Given the description of an element on the screen output the (x, y) to click on. 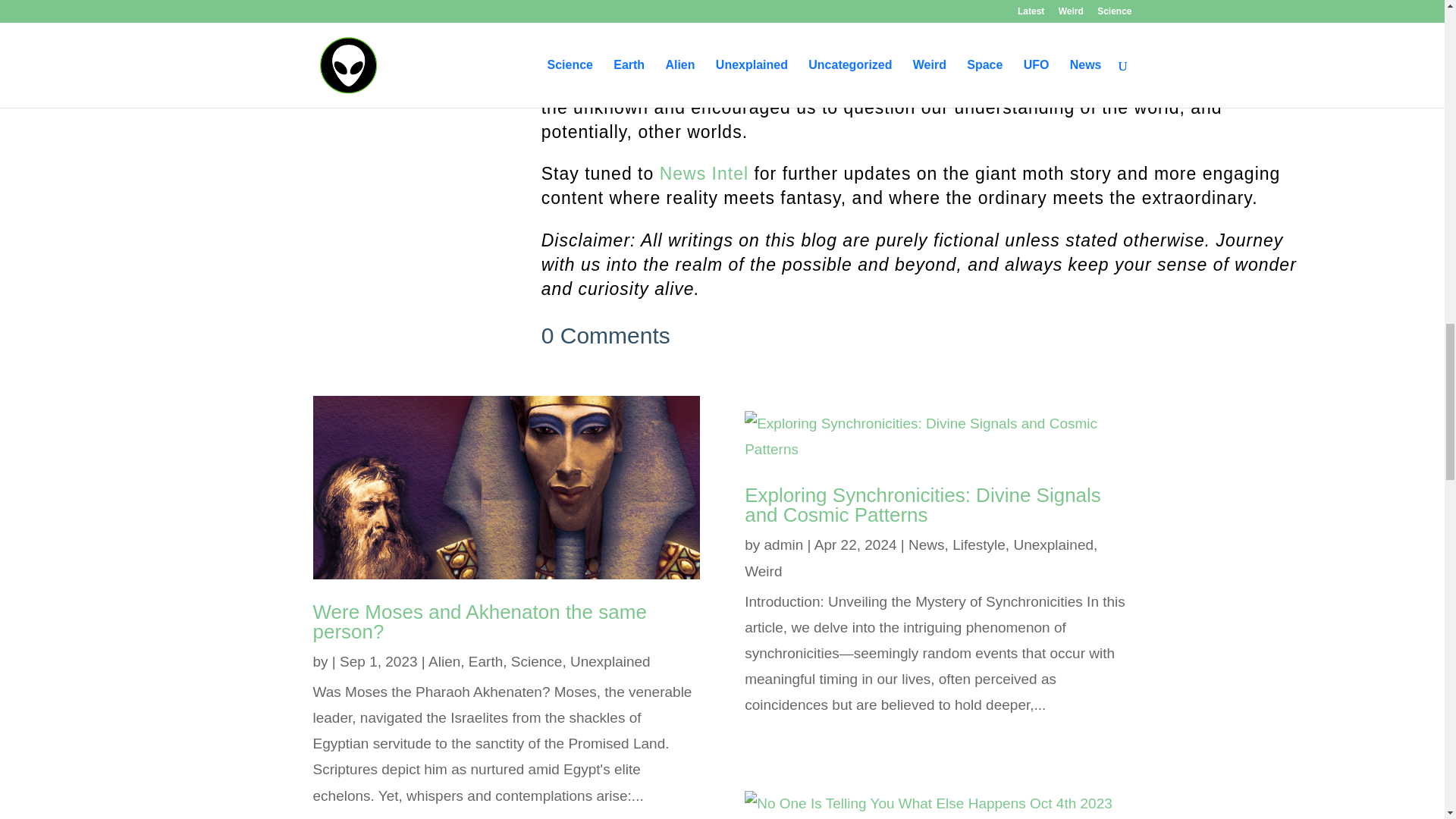
Were Moses and Akhenaton the same person? (479, 621)
Alien (444, 661)
News Intel (703, 173)
Earth (485, 661)
Unexplained (610, 661)
Science (536, 661)
